Given the description of an element on the screen output the (x, y) to click on. 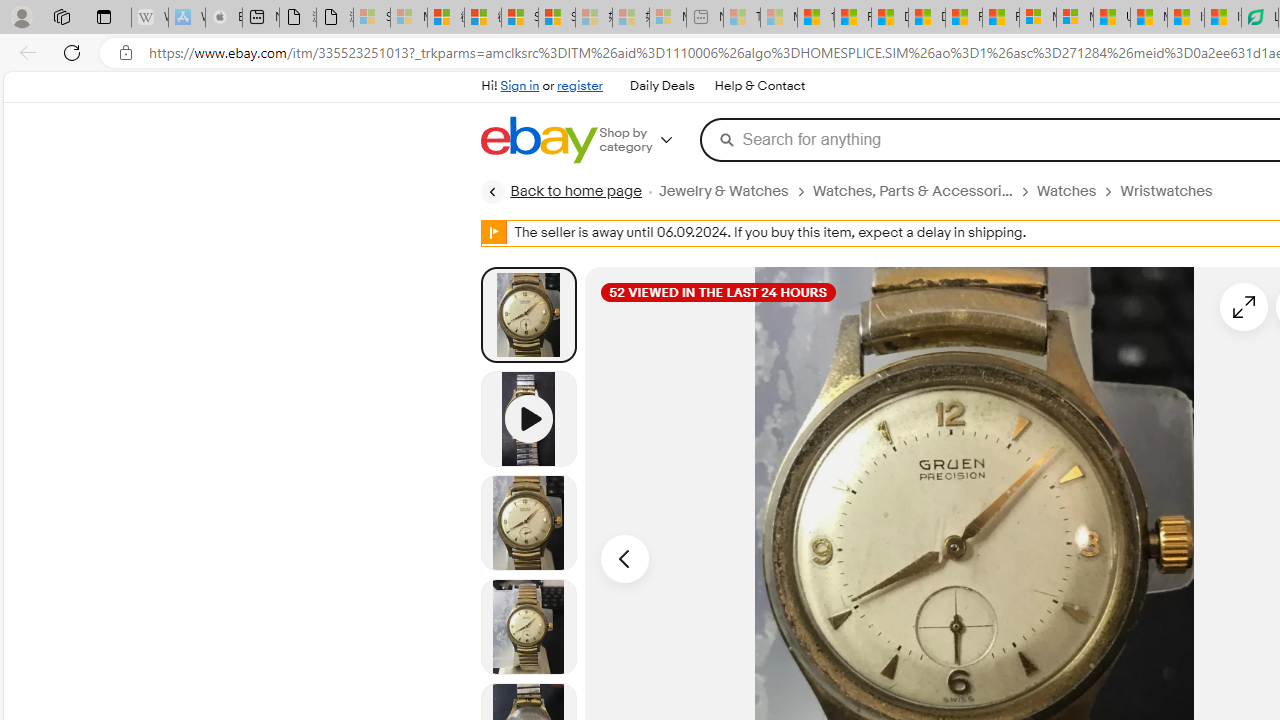
Food and Drink - MSN (852, 17)
Drinking tea every day is proven to delay biological aging (926, 17)
register (579, 85)
Sign in (520, 85)
eBay Home (538, 139)
Daily Deals (661, 85)
eBay Home (538, 139)
Top Stories - MSN - Sleeping (742, 17)
Picture 2 of 13 (528, 522)
Watches, Parts & Accessories (911, 191)
Sign in to your Microsoft account - Sleeping (372, 17)
New tab - Sleeping (705, 17)
Back to home page (561, 191)
